Given the description of an element on the screen output the (x, y) to click on. 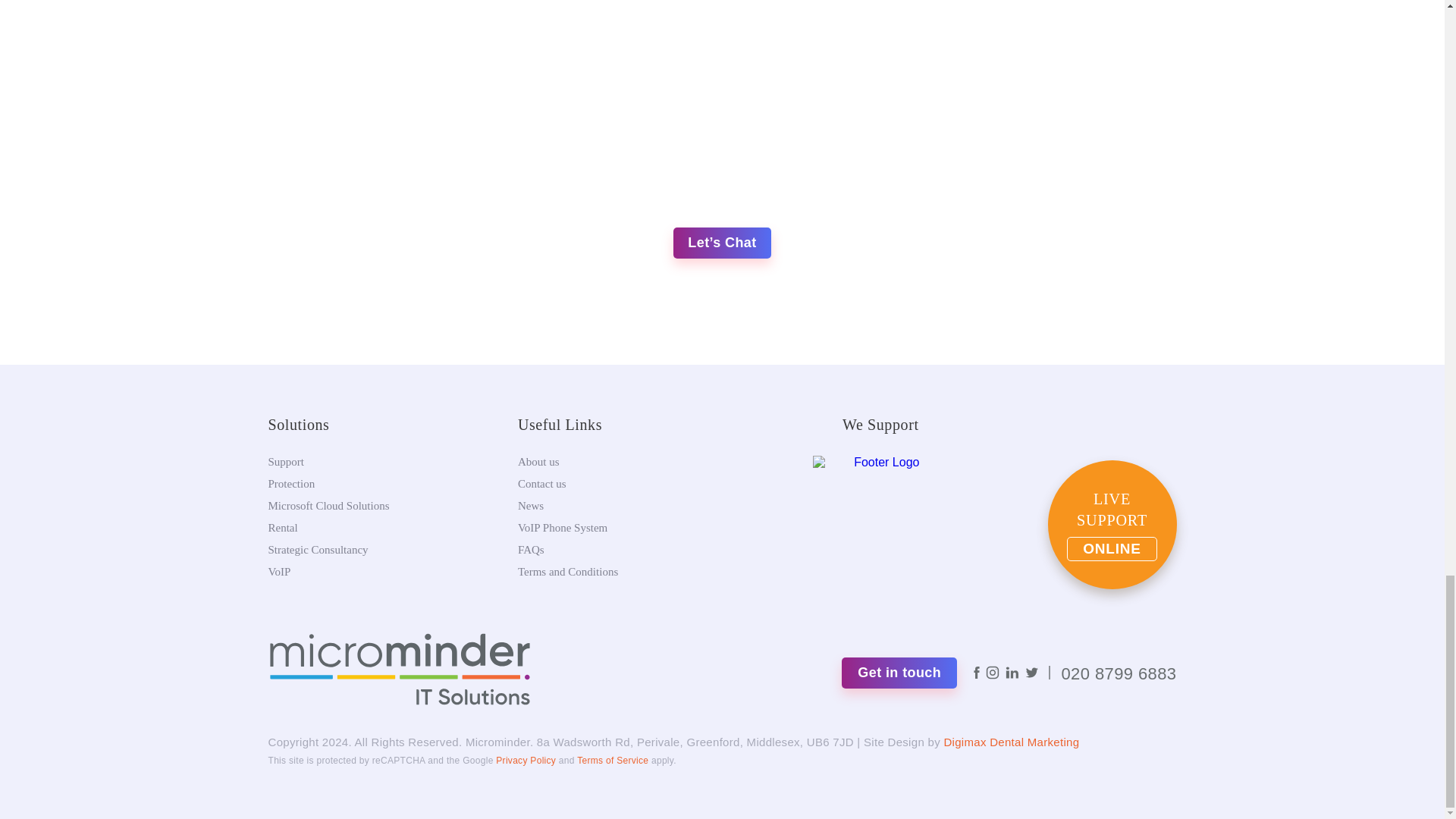
Microsoft Cloud Solutions (328, 505)
Rental (282, 527)
Support (285, 461)
VoIP (279, 571)
Protection (291, 483)
Strategic Consultancy (317, 549)
